Given the description of an element on the screen output the (x, y) to click on. 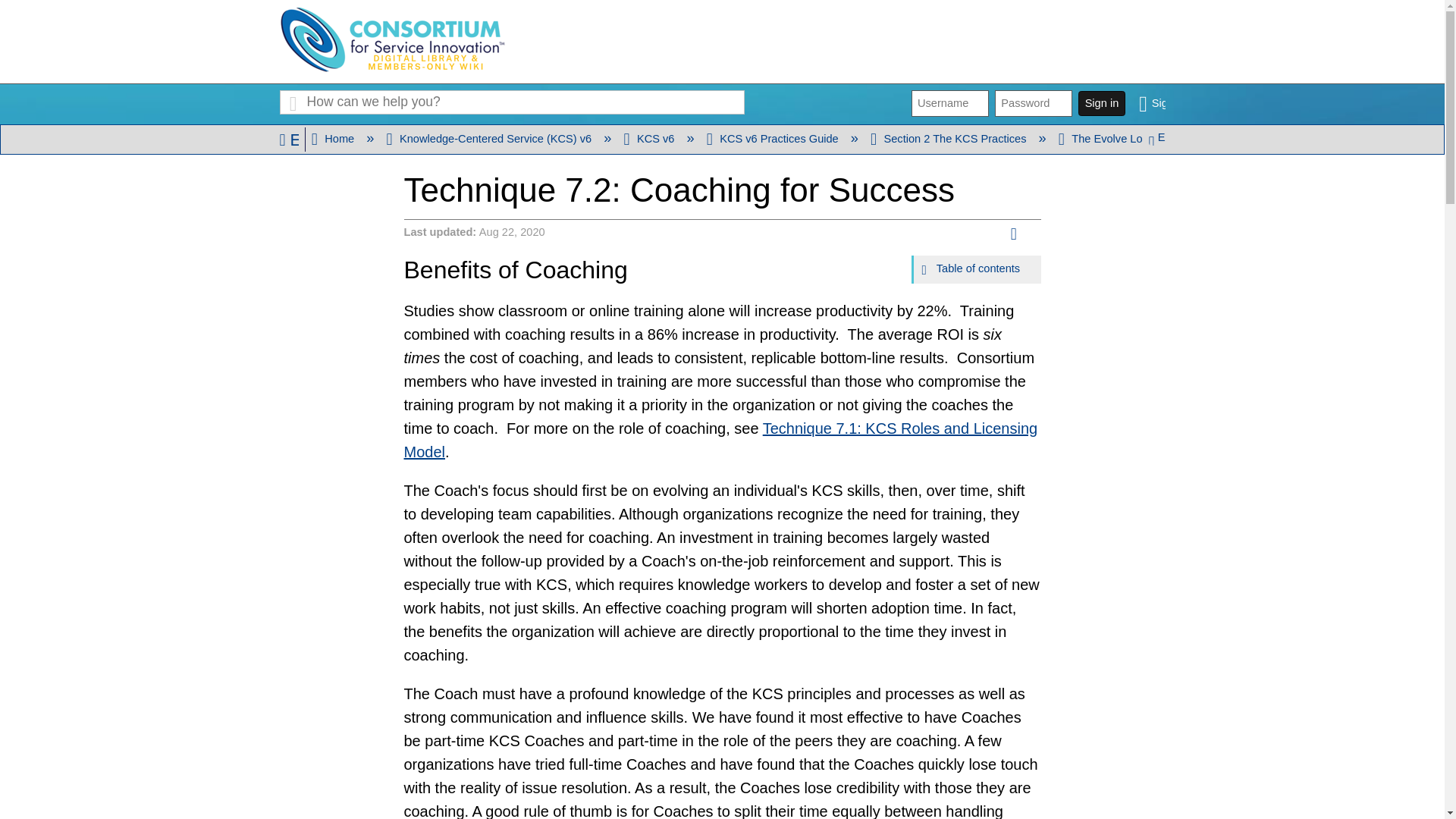
KCS v6 Practices Guide (773, 138)
Sign in (1151, 103)
Section 2 The KCS Practices (949, 138)
Sign in (1151, 103)
Home (334, 138)
KCS v6 (650, 138)
Technique 7.1: KCS Roles and Licensing Model (719, 440)
Table of contents (976, 269)
Search (292, 102)
Sign in (1101, 103)
The Evolve Loop (1107, 138)
